Given the description of an element on the screen output the (x, y) to click on. 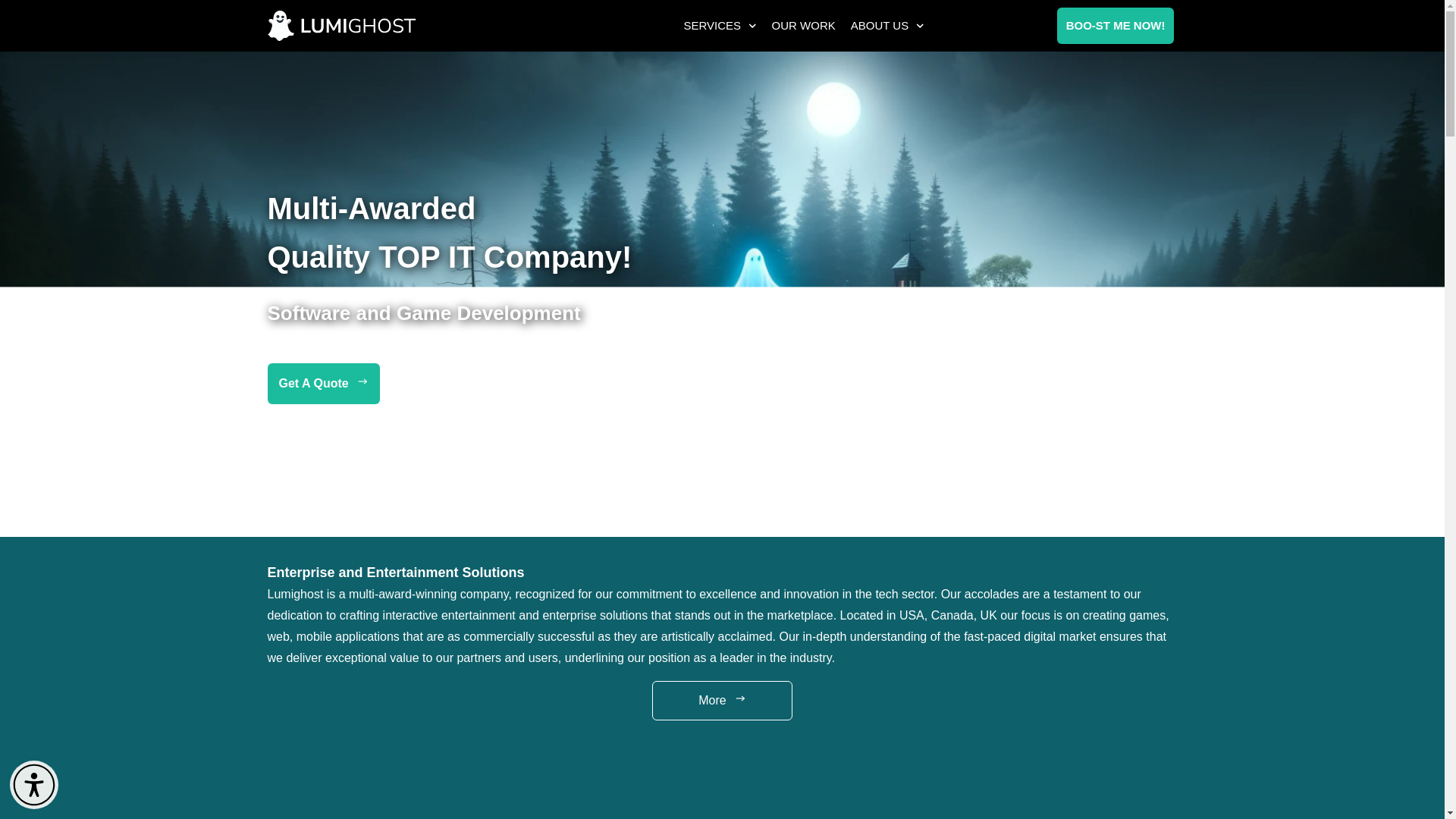
OUR WORK (804, 25)
SERVICES (719, 25)
Accessibility Menu (34, 784)
ABOUT US (887, 25)
BOO-ST ME NOW! (1115, 25)
